Given the description of an element on the screen output the (x, y) to click on. 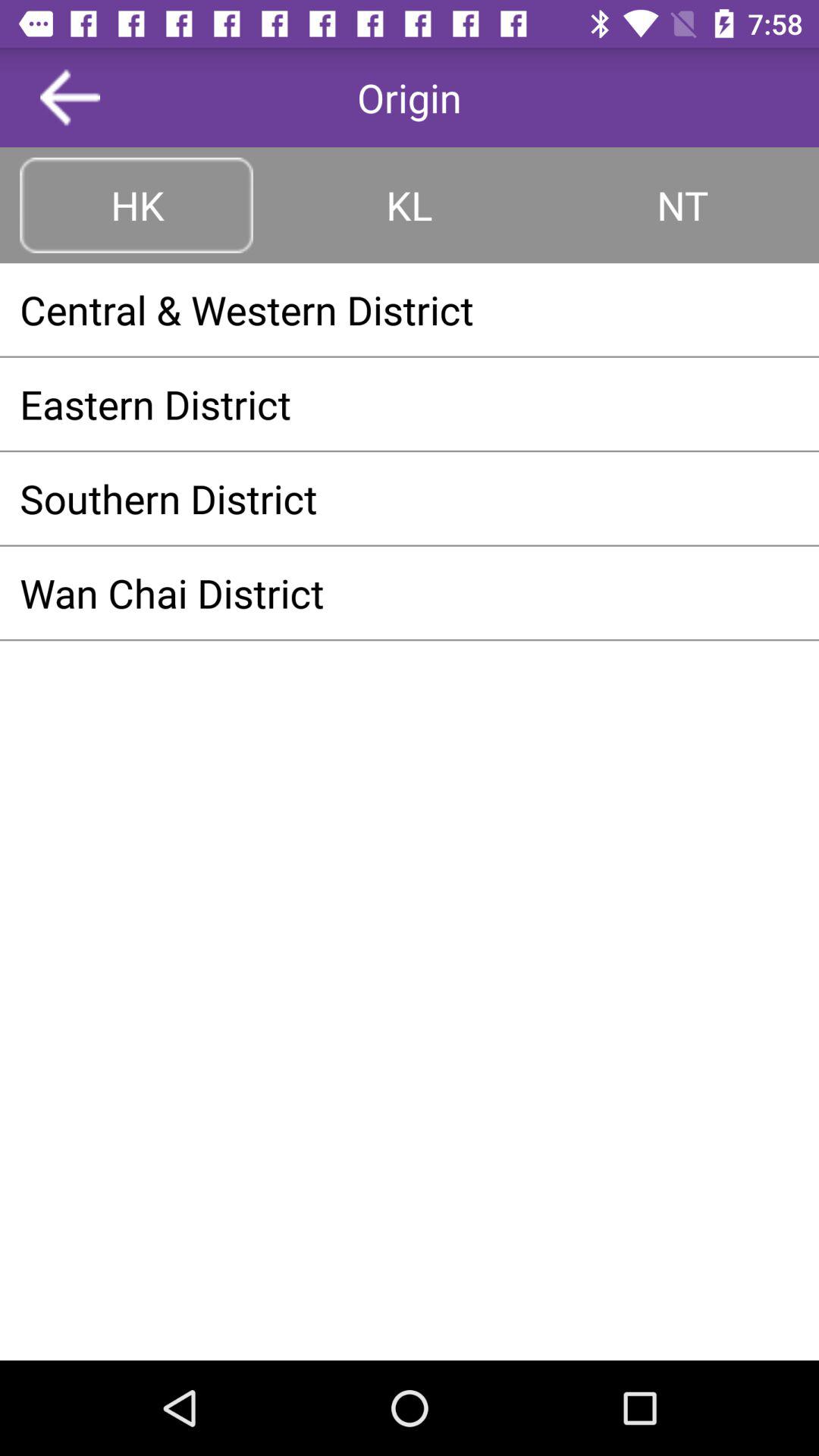
click the item below the eastern district icon (409, 498)
